Given the description of an element on the screen output the (x, y) to click on. 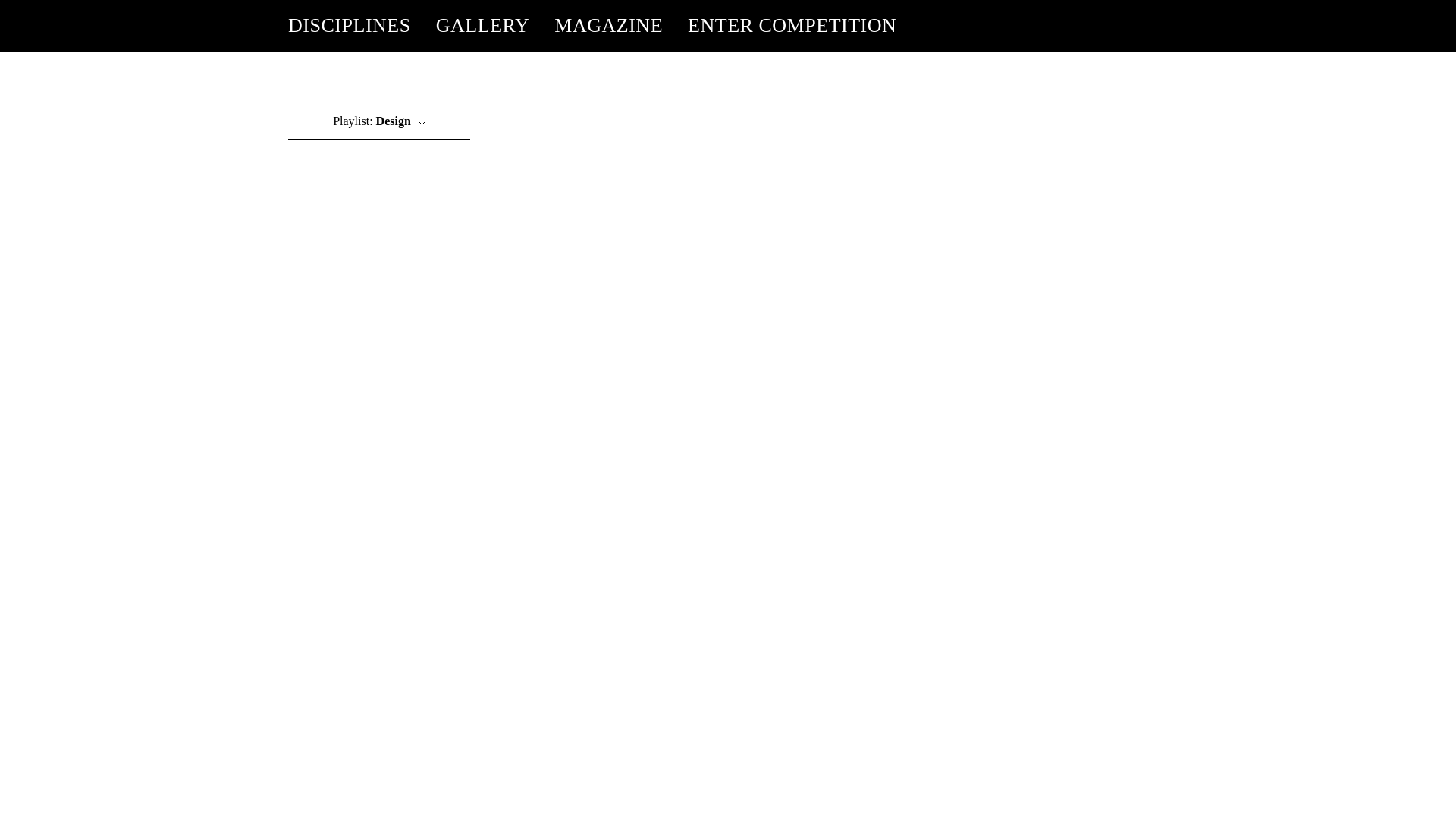
MAGAZINE (608, 25)
DISCIPLINES (349, 25)
GALLERY (482, 25)
Get Our Newsletter (1022, 77)
Subscribe (918, 77)
ENTER COMPETITION (791, 25)
